Given the description of an element on the screen output the (x, y) to click on. 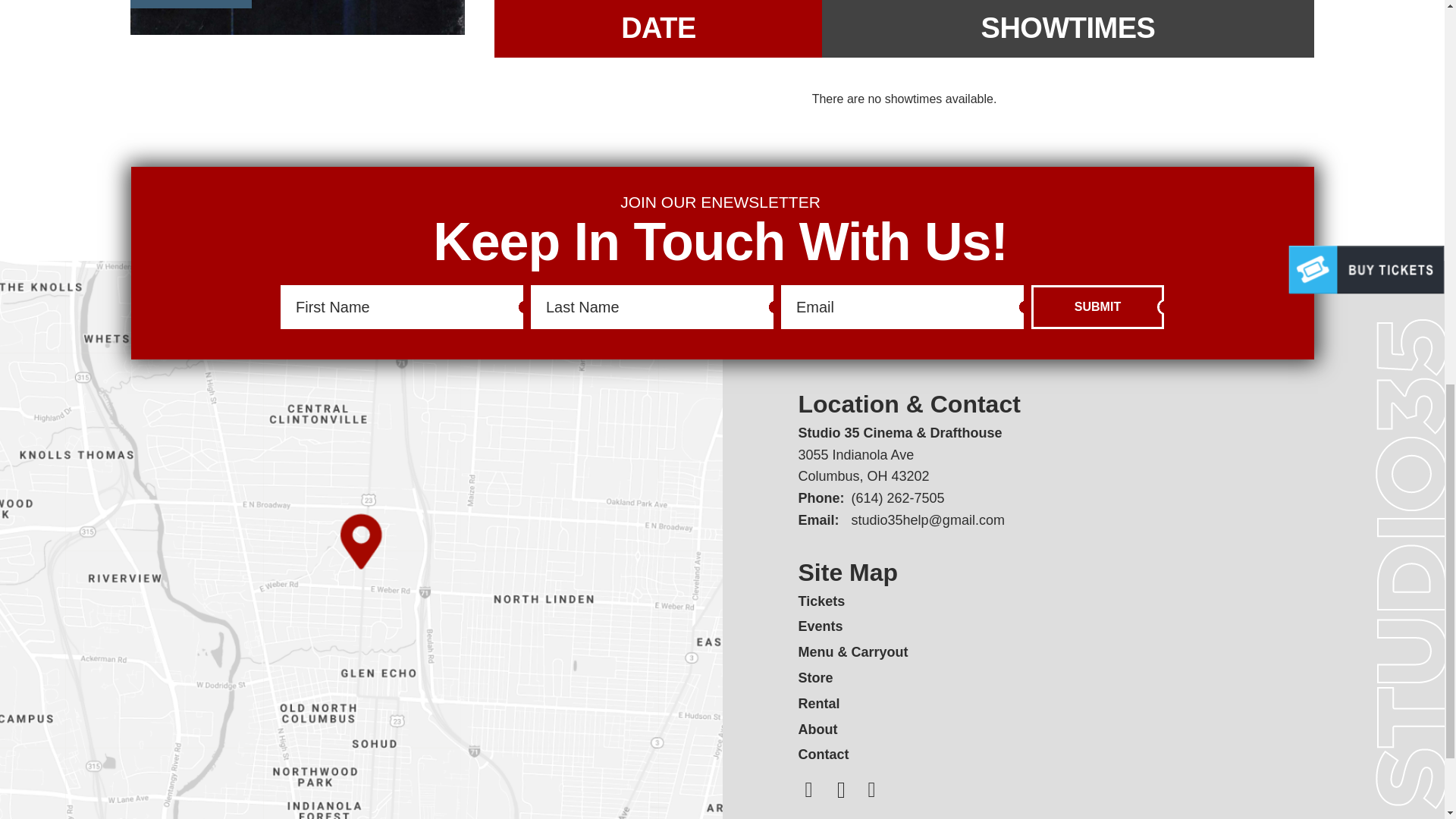
Events (820, 626)
Twitter (841, 789)
Instagram (807, 789)
Contact (822, 754)
About (817, 729)
Submit (1096, 307)
Store (814, 677)
Tickets (820, 601)
Rental (818, 703)
Submit (1096, 307)
